Given the description of an element on the screen output the (x, y) to click on. 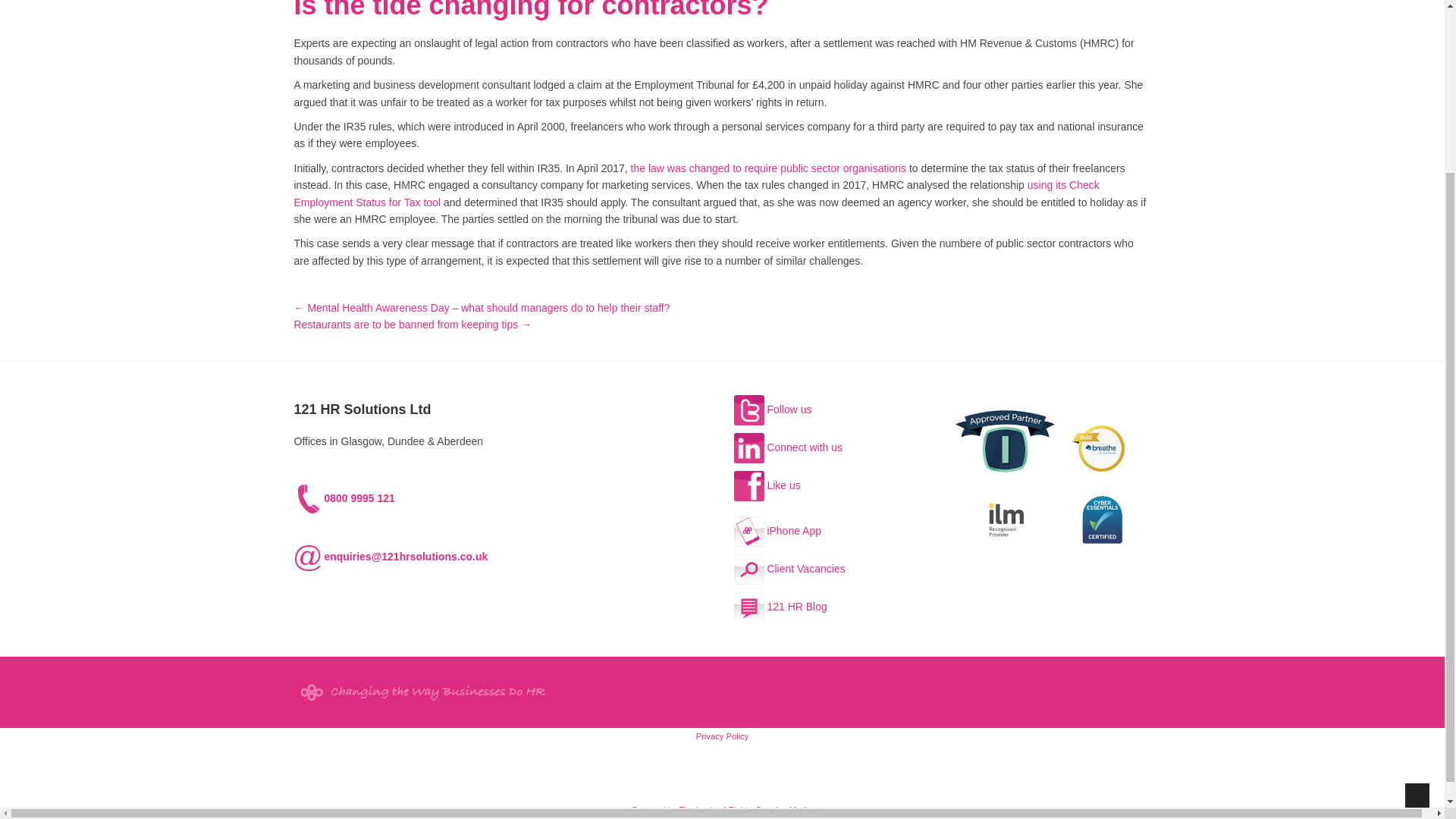
Follow us (772, 409)
Privacy Policy (722, 736)
121 HR Blog (780, 606)
using its Check Employment Status for Tax tool (696, 193)
Connect with us (788, 447)
Client Vacancies (789, 568)
iPhone App (777, 530)
the law was changed to require public sector organisations (767, 168)
Like us (766, 485)
0800 9995 121 (344, 498)
